Given the description of an element on the screen output the (x, y) to click on. 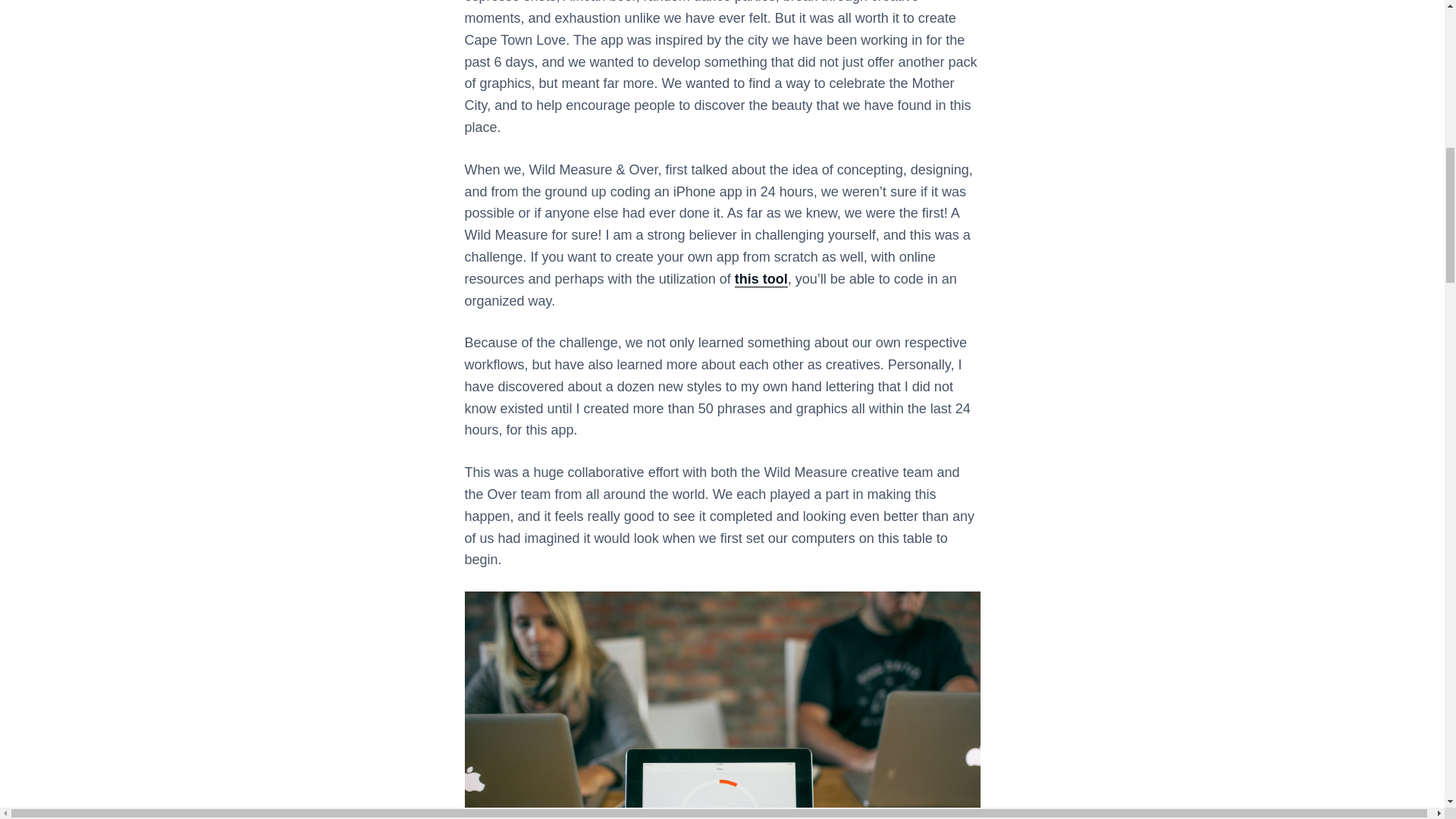
this tool (761, 279)
